Given the description of an element on the screen output the (x, y) to click on. 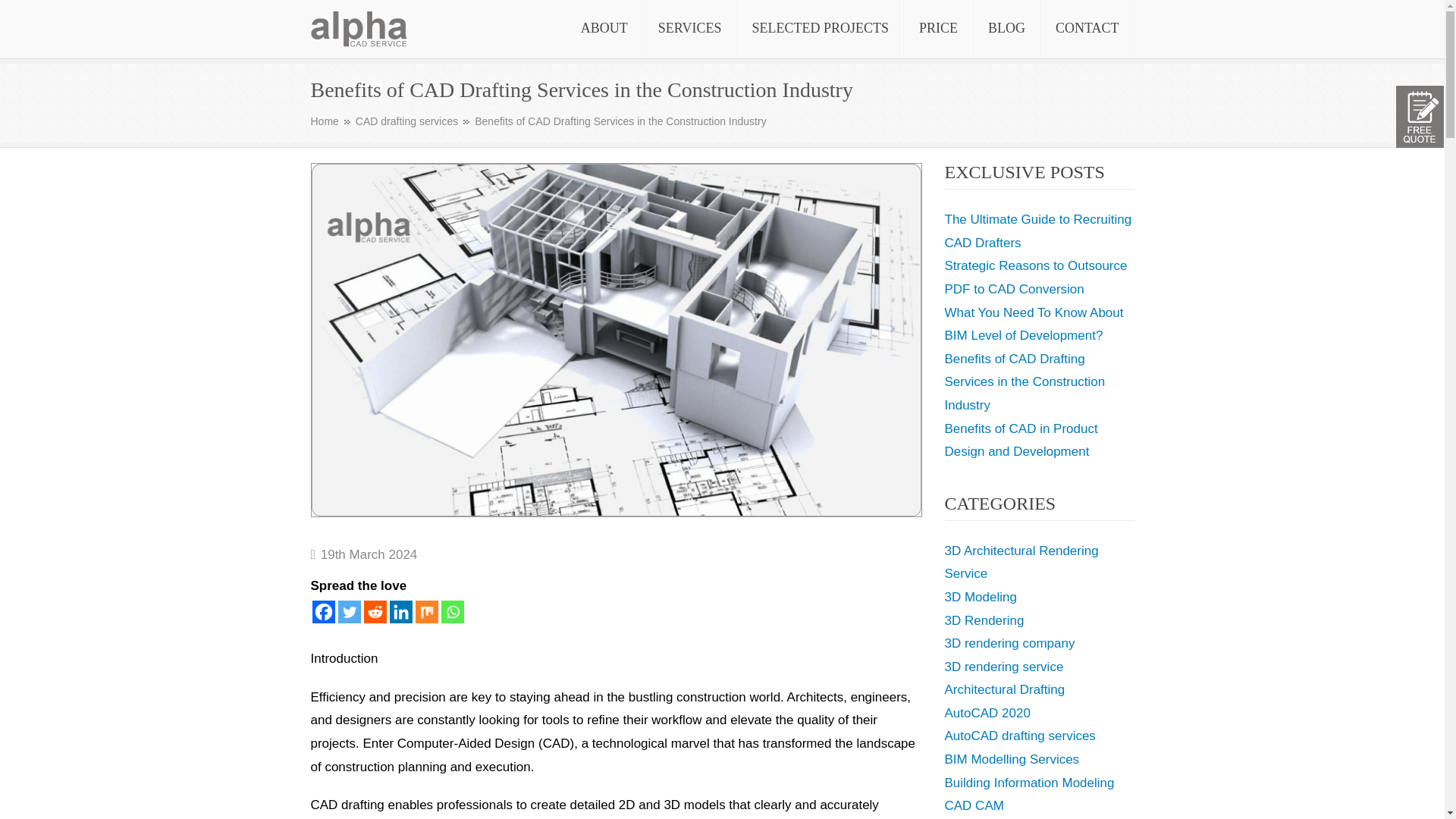
Mix (426, 611)
SERVICES (689, 28)
ABOUT (604, 28)
Alpha CAD Service (366, 58)
BLOG (1006, 28)
Whatsapp (452, 611)
Facebook (323, 611)
Twitter (349, 611)
SELECTED PROJECTS (820, 28)
Linkedin (401, 611)
PRICE (938, 28)
CONTACT (1087, 28)
Reddit (375, 611)
